Given the description of an element on the screen output the (x, y) to click on. 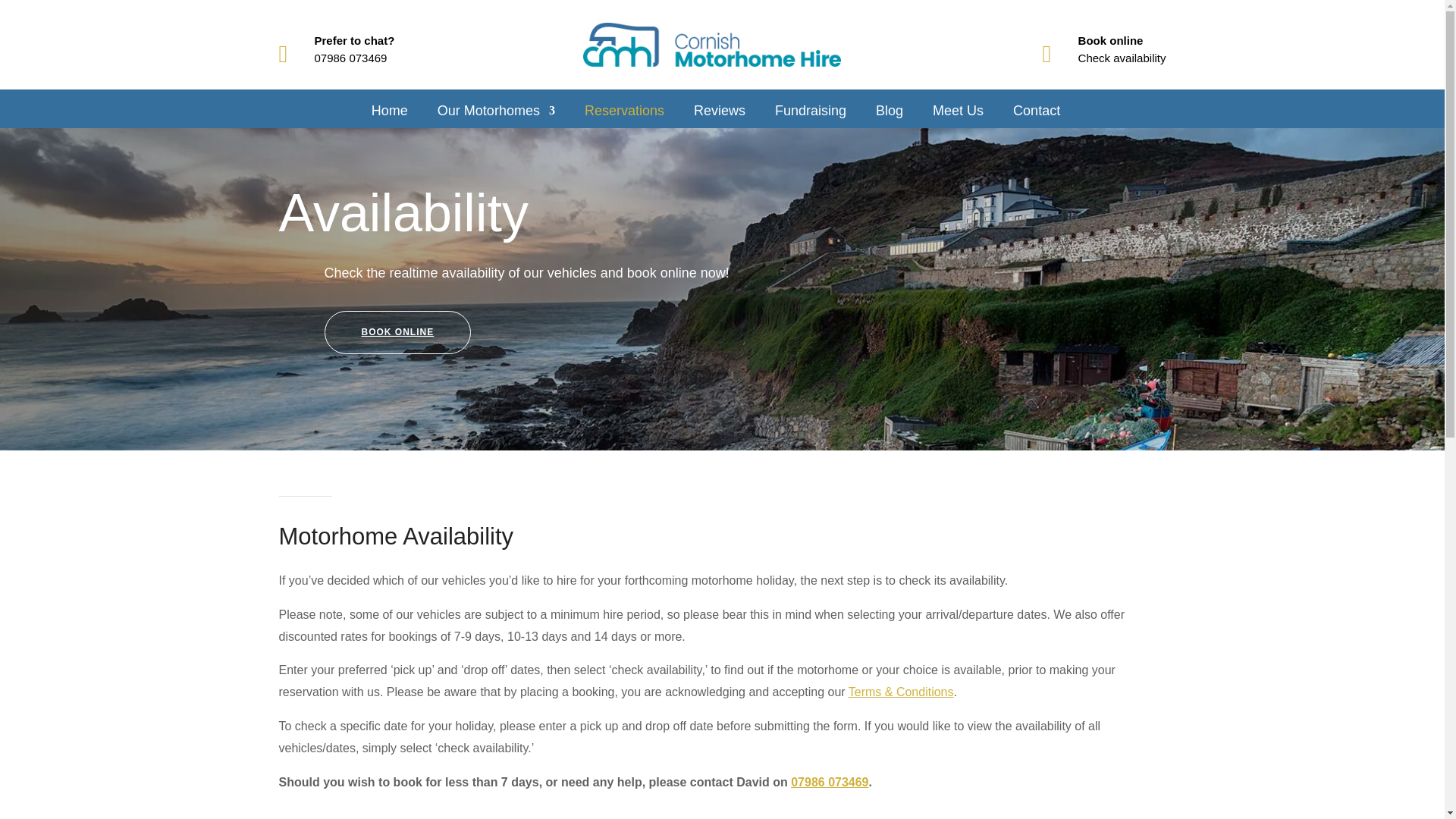
Reviews (719, 113)
Contact (1036, 113)
Reservations (624, 113)
Home (389, 113)
Meet Us (958, 113)
Blog (889, 113)
Fundraising (809, 113)
Our Motorhomes (496, 113)
